Given the description of an element on the screen output the (x, y) to click on. 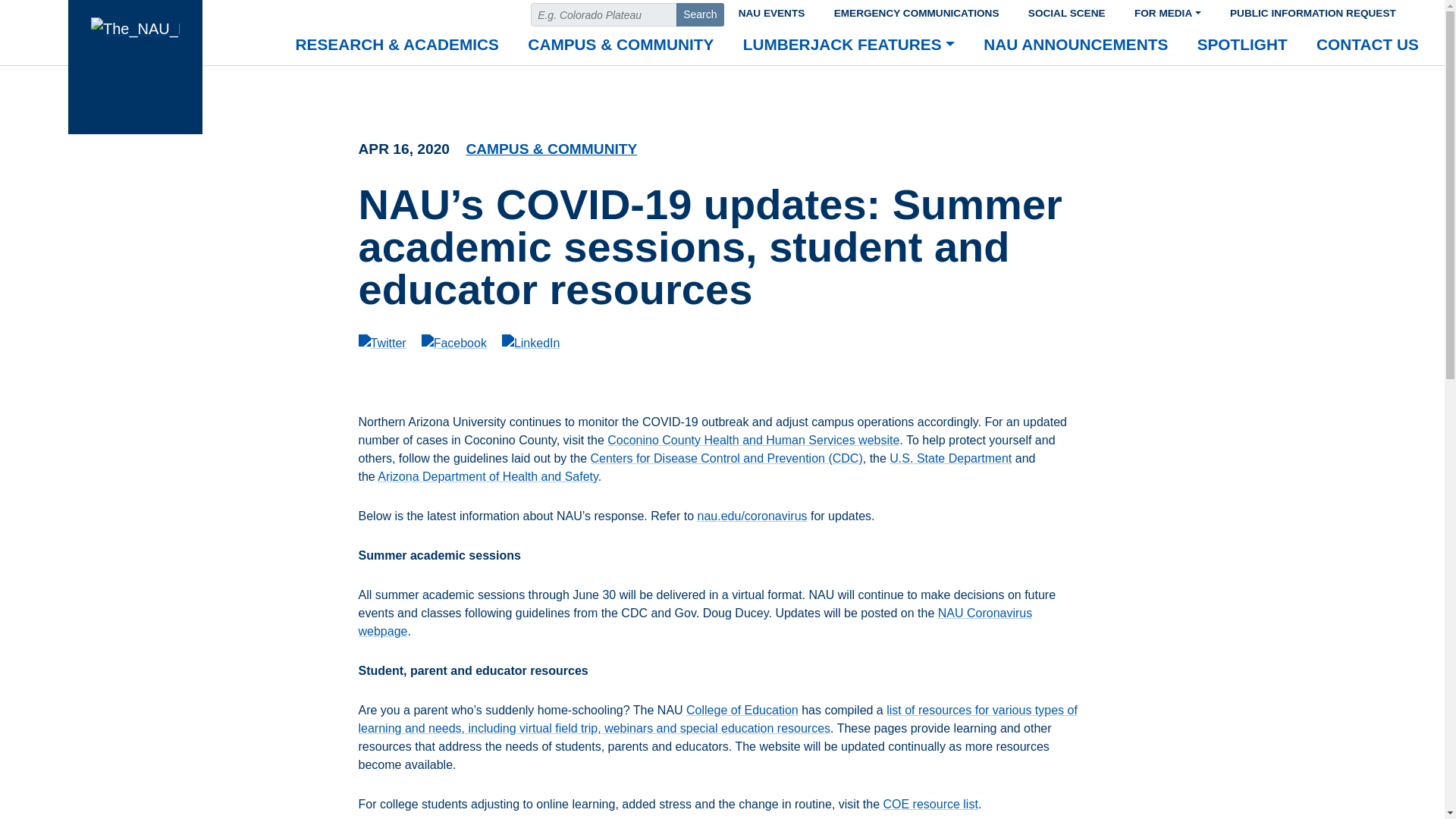
Lumberjack Features (848, 45)
Social Scene (1066, 10)
NAU EVENTS (770, 10)
NAU ANNOUNCEMENTS (1075, 45)
Arizona Department of Health and Safety (487, 476)
Emergency Communications (915, 10)
Search (700, 14)
NAU Events (770, 10)
U.S. State Department (950, 458)
